Given the description of an element on the screen output the (x, y) to click on. 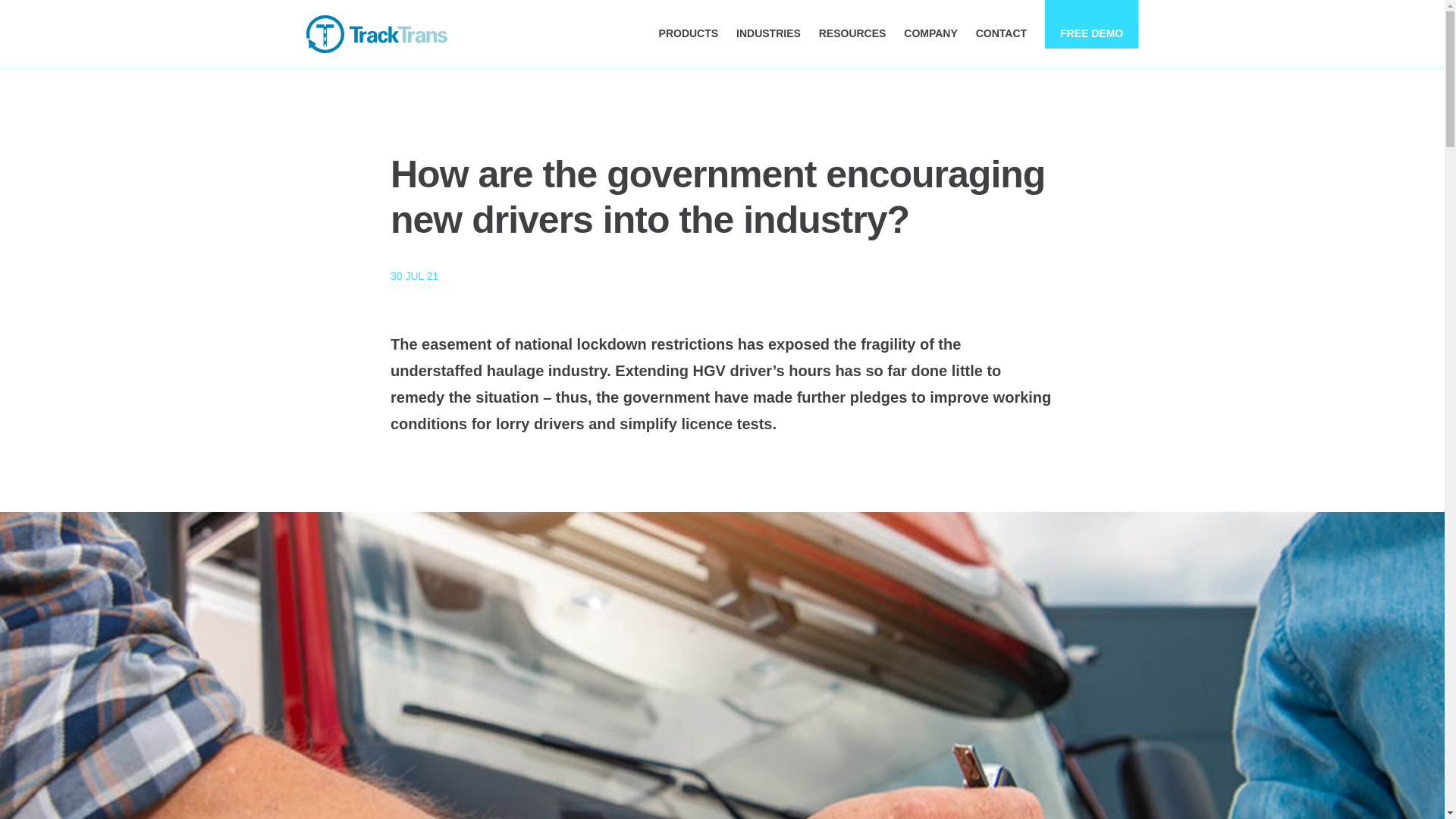
INDUSTRIES (768, 33)
PRODUCTS (689, 33)
RESOURCES (852, 33)
TrackTrans (375, 34)
